Given the description of an element on the screen output the (x, y) to click on. 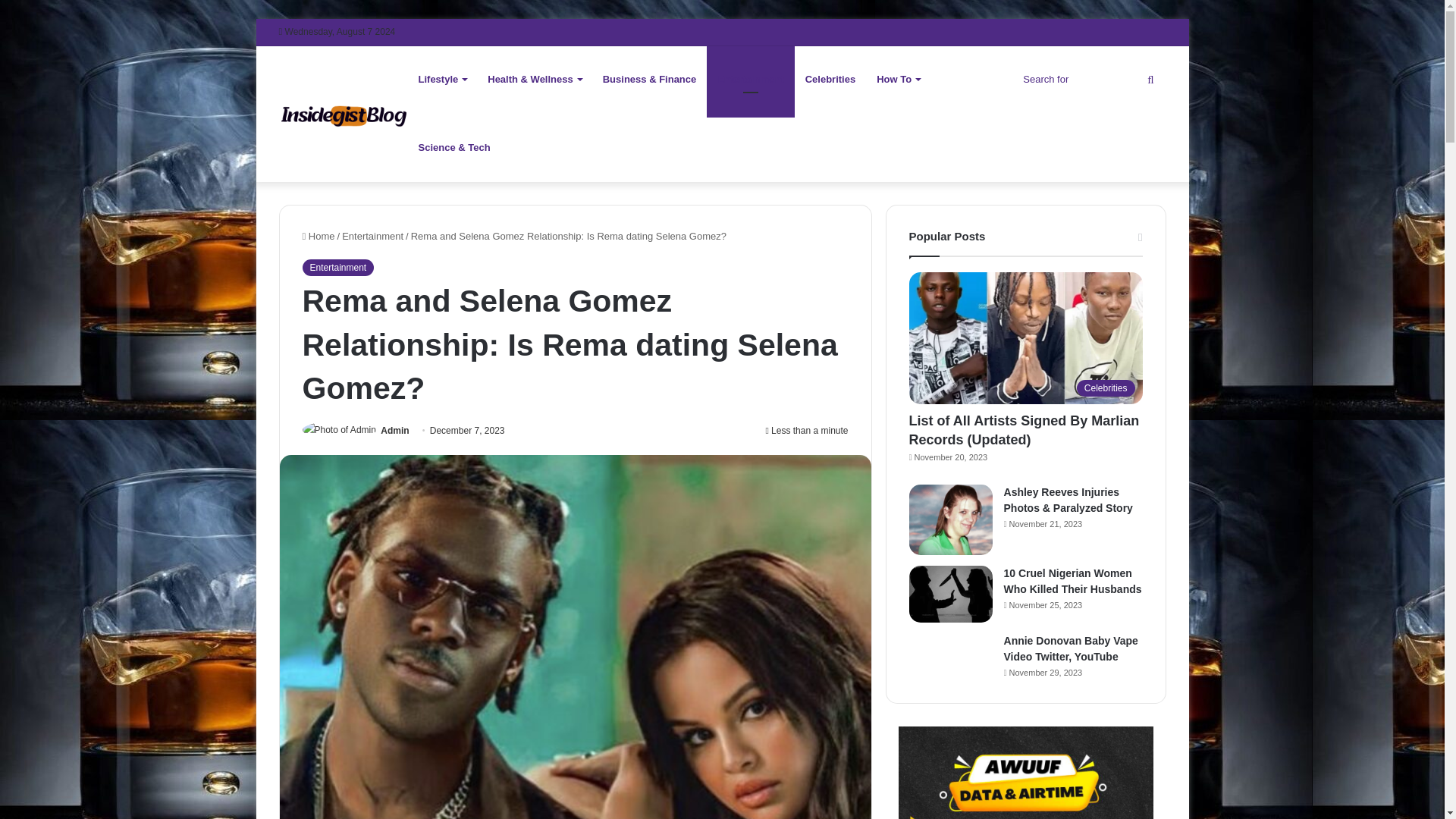
Admin (394, 430)
Entertainment (337, 267)
How To (898, 79)
Search for (1090, 79)
Celebrities (830, 79)
Entertainment (372, 235)
Entertainment (749, 79)
Lifestyle (442, 79)
Admin (394, 430)
Home (317, 235)
Insidegistblog (343, 113)
